Given the description of an element on the screen output the (x, y) to click on. 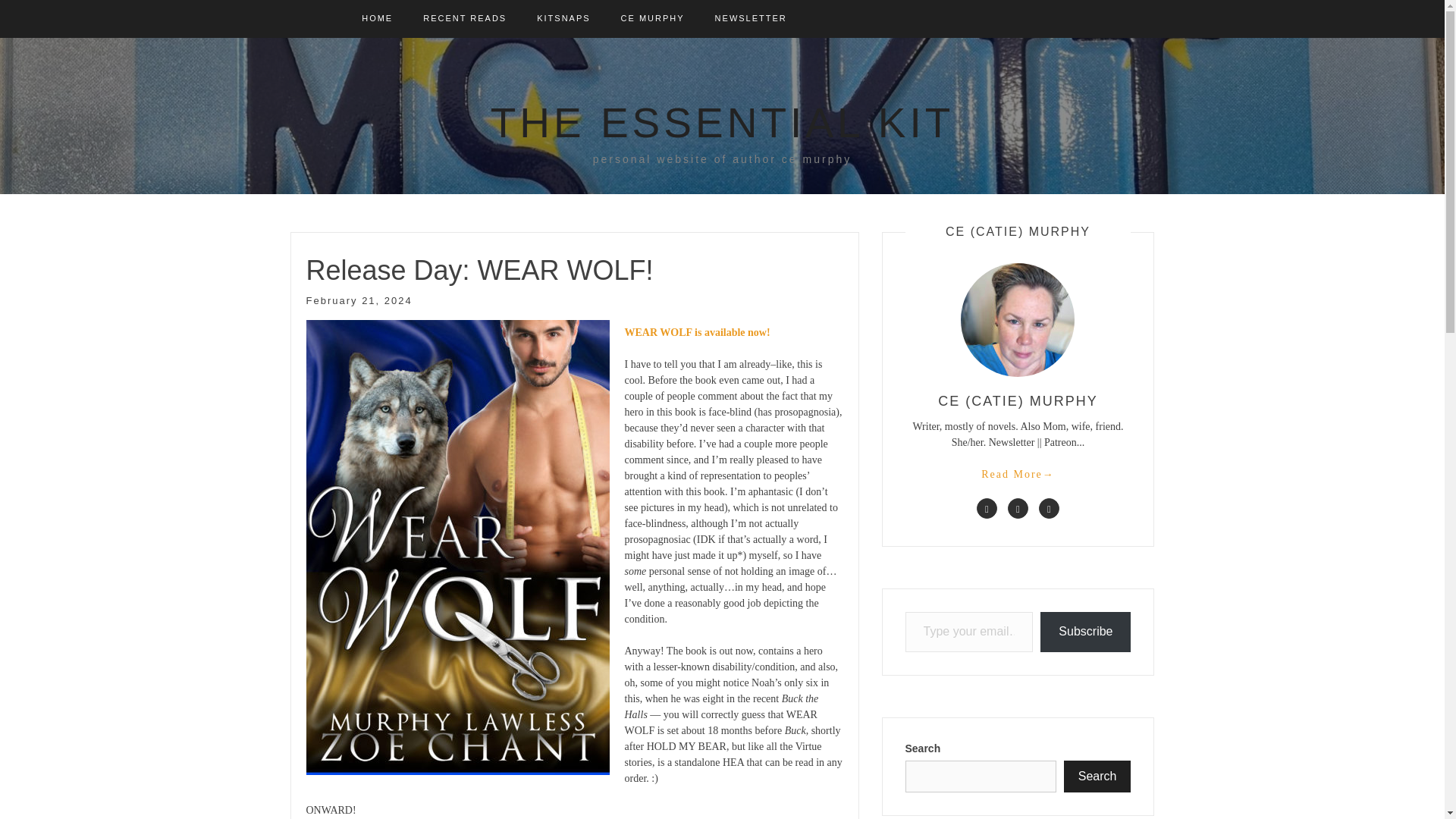
KITSNAPS (563, 18)
instagram (1049, 507)
CE MURPHY (652, 18)
facebook (986, 507)
Please fill in this field. (969, 631)
RECENT READS (464, 18)
THE ESSENTIAL KIT (722, 122)
WEAR WOLF is available now! (697, 332)
NEWSLETTER (750, 18)
Search (1097, 776)
